Given the description of an element on the screen output the (x, y) to click on. 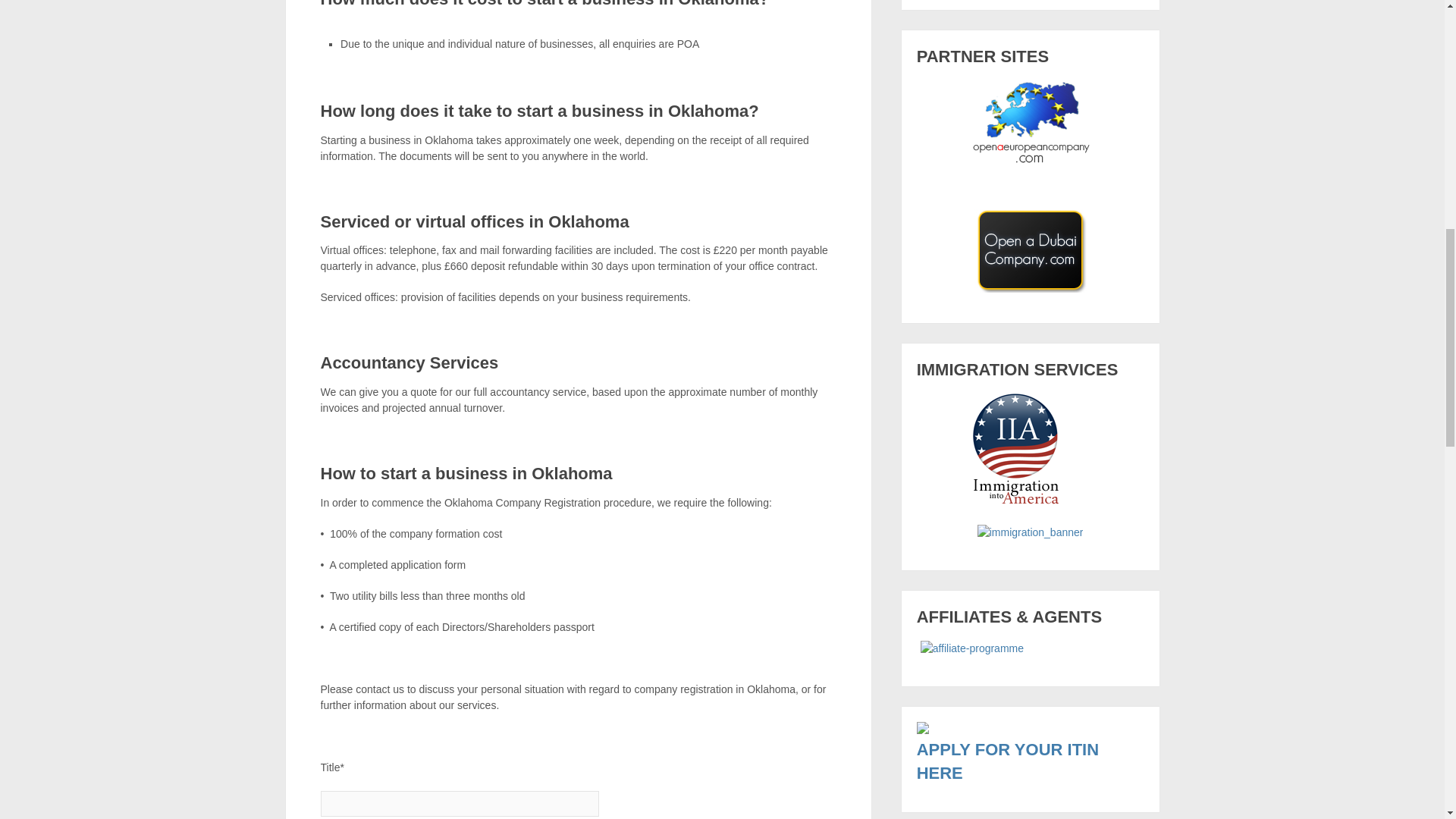
Immigration Into Europe (1029, 532)
Open A Dubai Company (1030, 250)
Open A European Company (1030, 121)
